Given the description of an element on the screen output the (x, y) to click on. 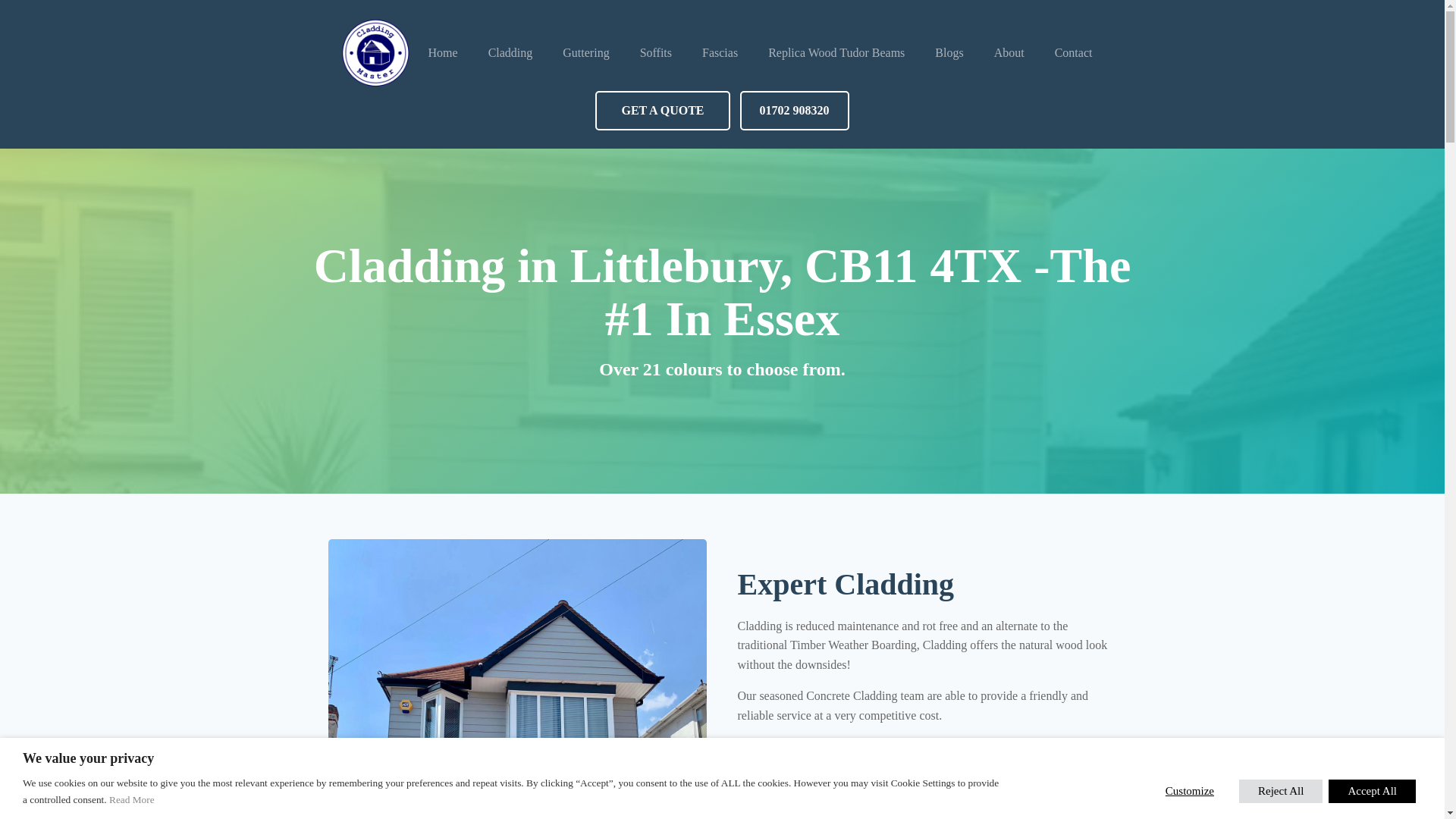
Cladding (510, 53)
Home (443, 53)
01702 908320 (793, 110)
Replica Wood Tudor Beams (836, 53)
Contact (1073, 53)
Soffits (655, 53)
Fascias (719, 53)
GET A QUOTE (662, 110)
Guttering (585, 53)
Blogs (949, 53)
About (1008, 53)
